Given the description of an element on the screen output the (x, y) to click on. 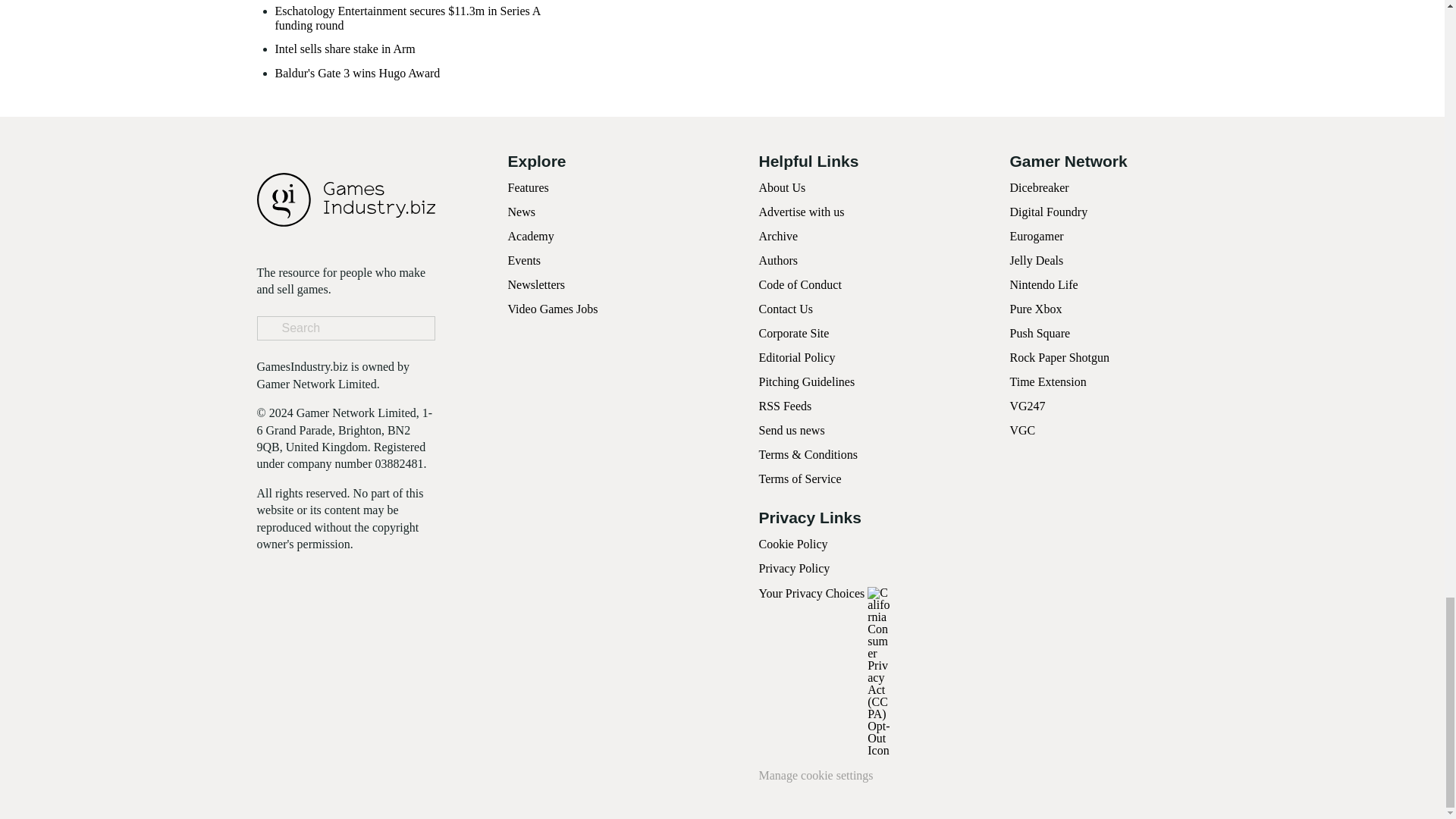
Authors (777, 259)
Newsletters (537, 284)
Advertise with us (801, 211)
News (521, 211)
About Us (781, 187)
Baldur's Gate 3 wins Hugo Award (357, 73)
Academy (531, 236)
Video Games Jobs (553, 308)
Features (528, 187)
Intel sells share stake in Arm (344, 48)
